Given the description of an element on the screen output the (x, y) to click on. 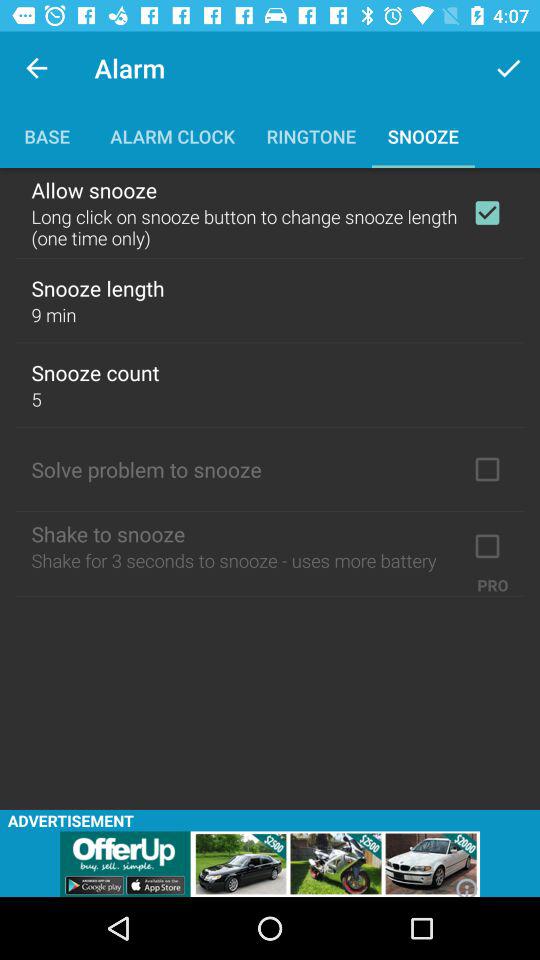
select option (487, 213)
